Given the description of an element on the screen output the (x, y) to click on. 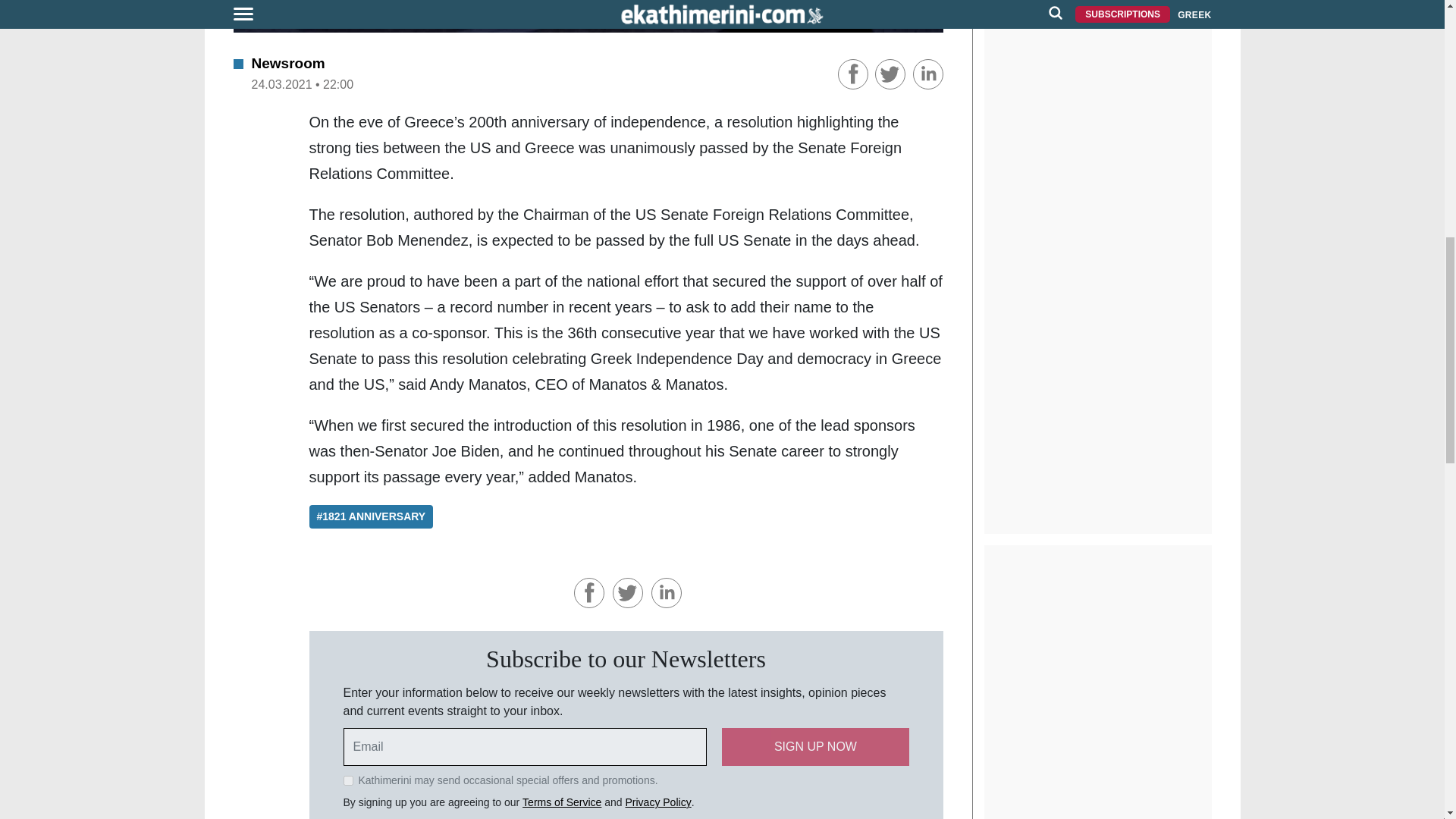
View all posts by Newsroom (287, 63)
on (347, 780)
